Given the description of an element on the screen output the (x, y) to click on. 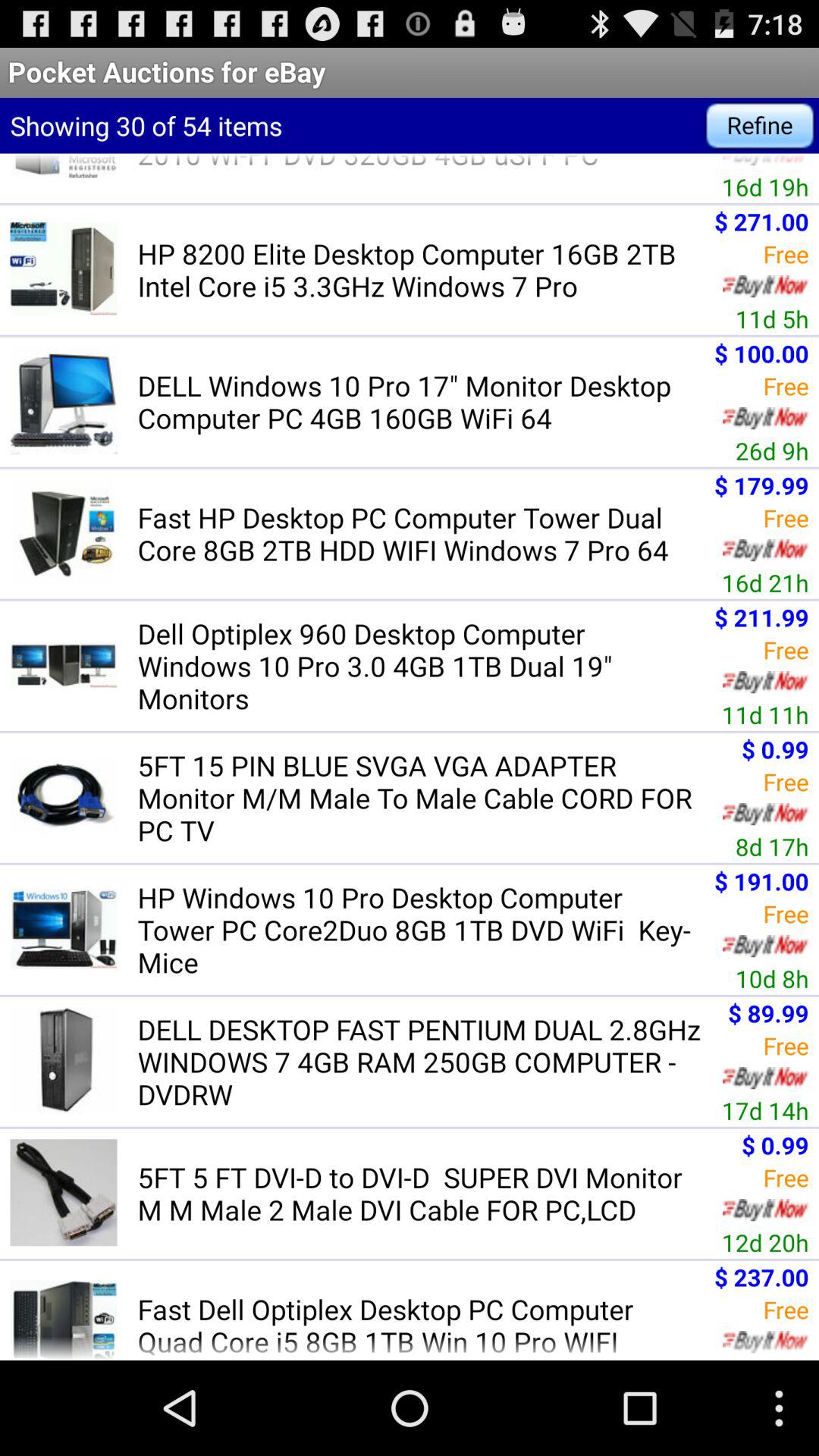
open app next to showing 30 of item (759, 125)
